Given the description of an element on the screen output the (x, y) to click on. 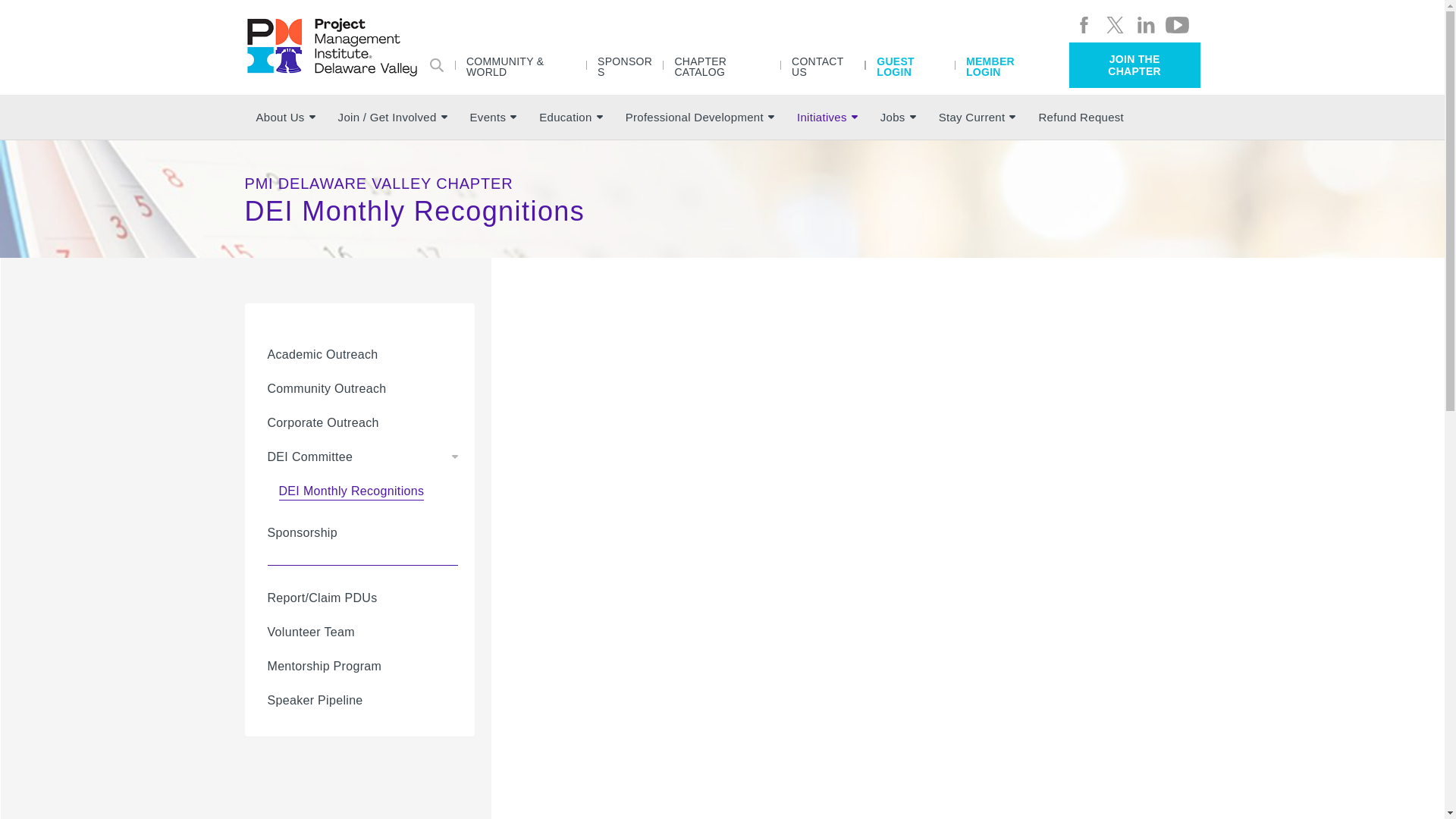
CONTACT US (822, 64)
About Us (285, 117)
JOIN THE CHAPTER (1133, 64)
SPONSORS (624, 64)
CHAPTER CATALOG (721, 64)
GUEST LOGIN (910, 64)
Events (493, 117)
MEMBER LOGIN (1004, 64)
Search (436, 63)
